Given the description of an element on the screen output the (x, y) to click on. 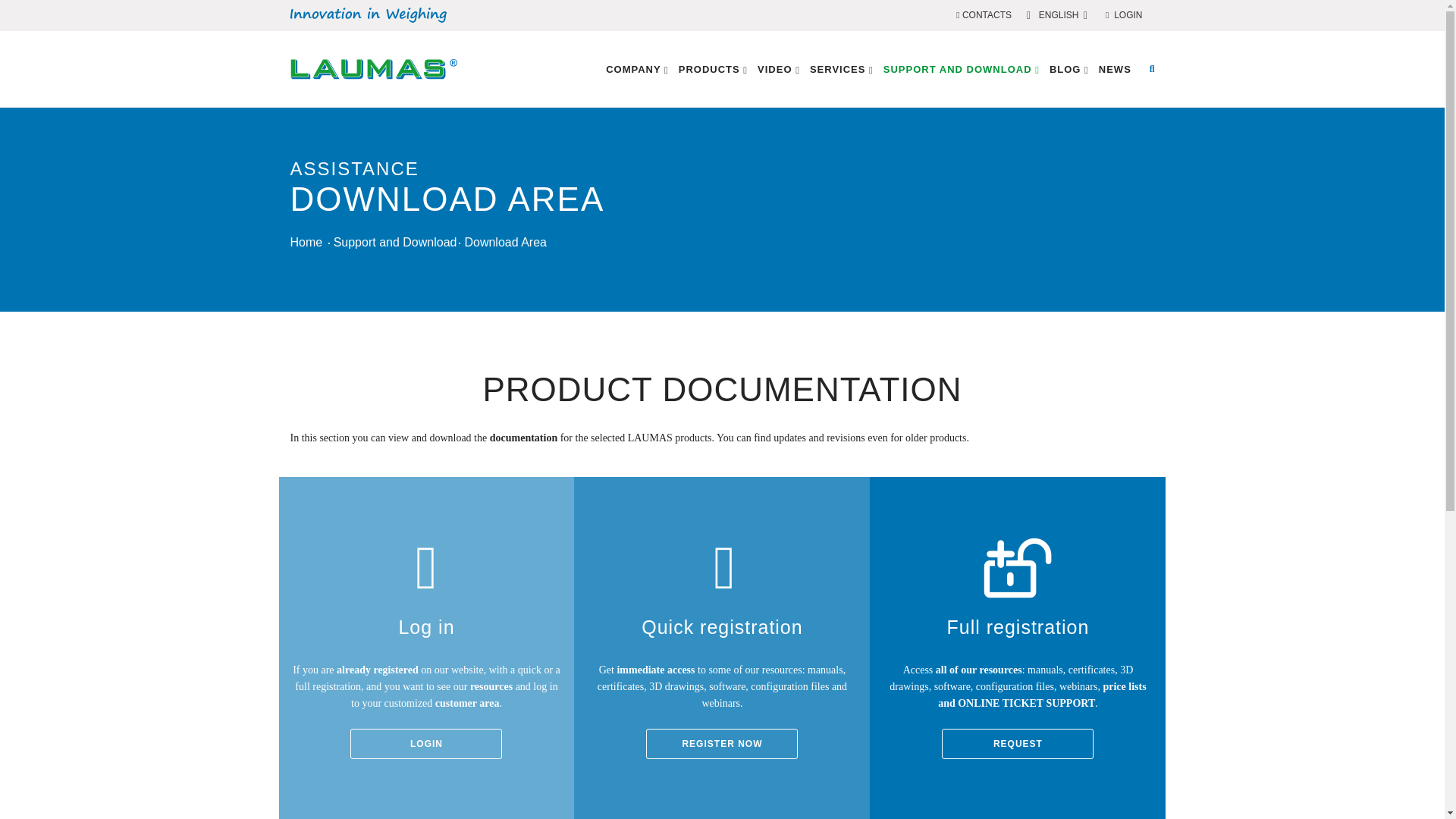
Innovation in Weighing (367, 14)
CONTACTS (983, 15)
Contacts (983, 15)
Login (1123, 15)
Laumas Elettronica (373, 68)
Laumas Elettronica (373, 84)
  LOGIN (1123, 15)
  ENGLISH   (1058, 15)
COMPANY (636, 69)
